Given the description of an element on the screen output the (x, y) to click on. 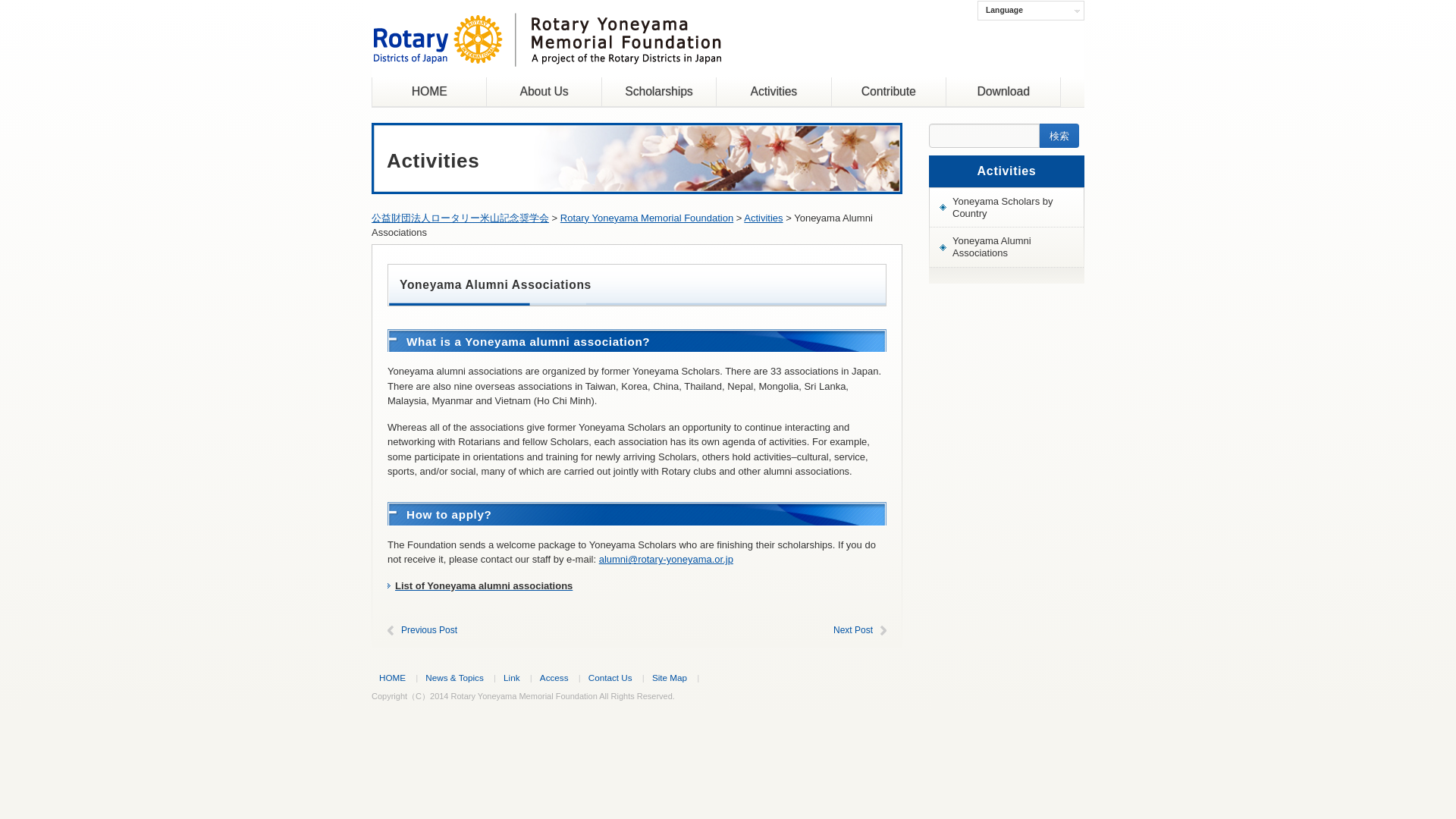
Rotary Yoneyama Memorial Foundation (646, 217)
Contact Us (609, 677)
List of Yoneyama alumni associations (483, 585)
Contribute (887, 91)
Yoneyama Alumni Associations (1006, 246)
Rotary Yoneyama Memorial Foundation (546, 55)
Access (554, 677)
Site Map (669, 677)
HOME (429, 91)
Previous Post (429, 629)
